Given the description of an element on the screen output the (x, y) to click on. 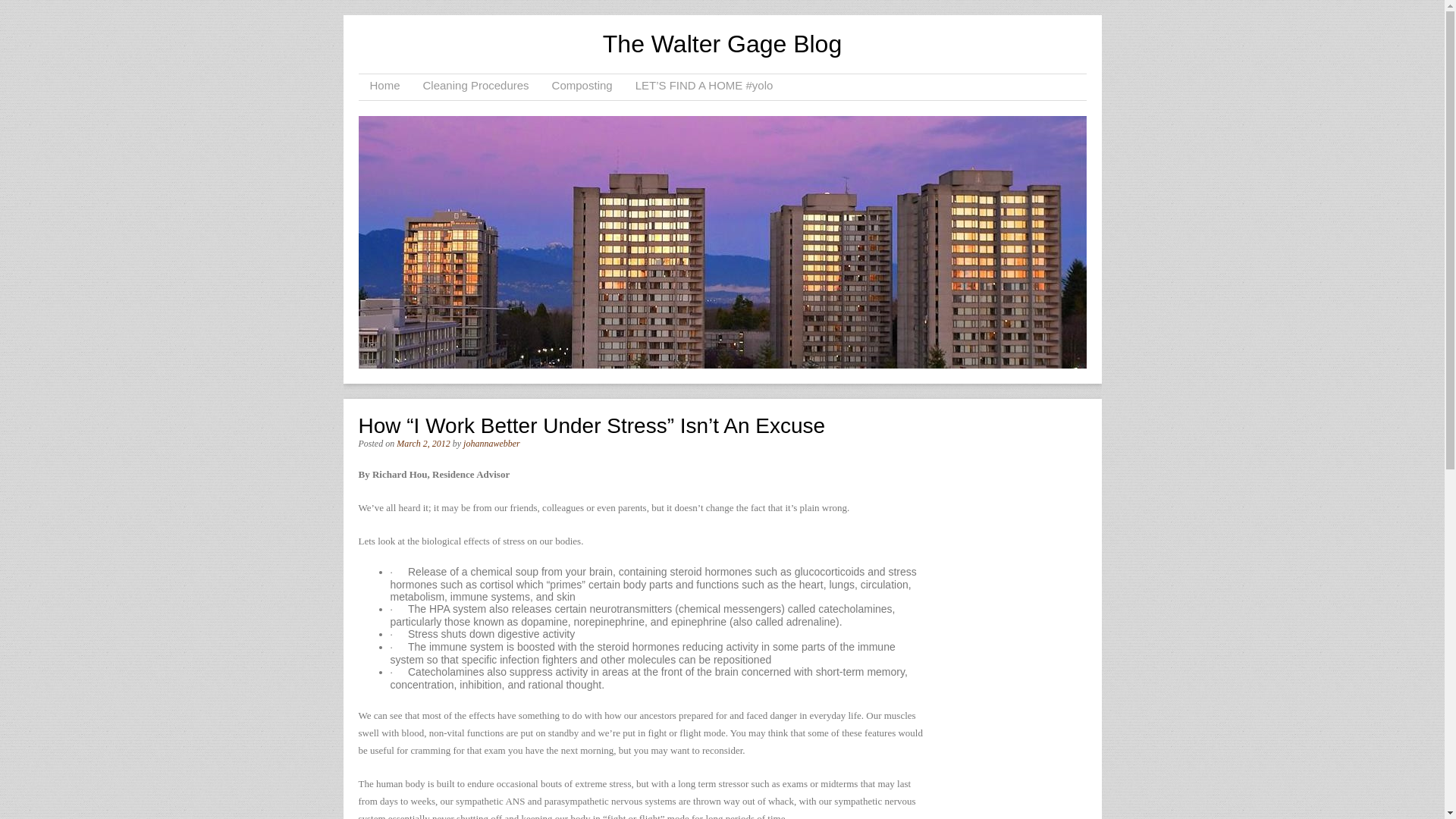
Skip to content (406, 86)
Composting (582, 86)
View all posts by johannawebber (491, 443)
Cleaning Procedures (476, 86)
March 2, 2012 (422, 443)
Home (384, 86)
The Walter Gage Blog (721, 43)
1:56 pm (422, 443)
The Walter Gage Blog (721, 43)
Skip to content (406, 86)
